Given the description of an element on the screen output the (x, y) to click on. 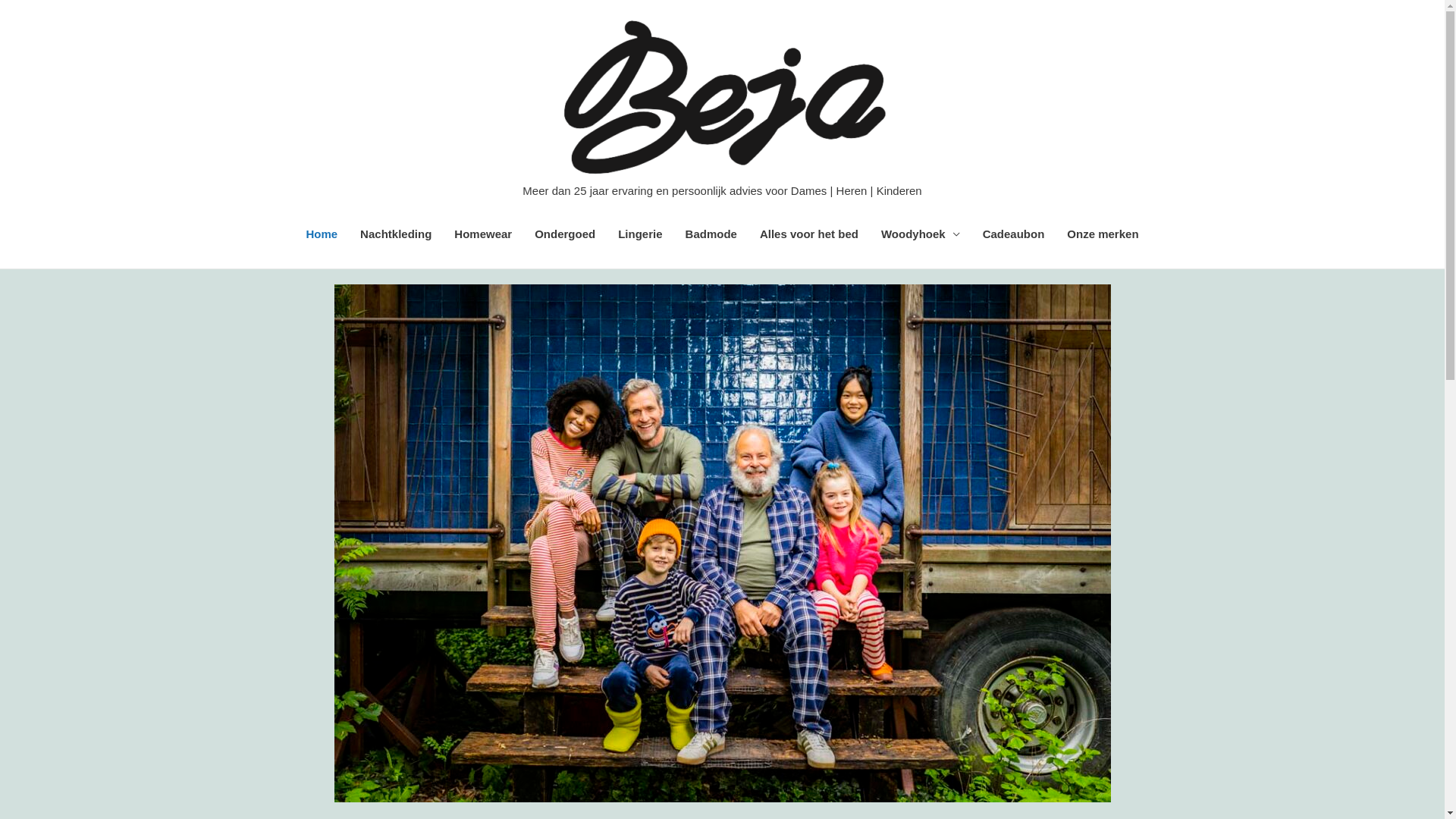
Ondergoed Element type: text (564, 233)
Alles voor het bed Element type: text (808, 233)
Badmode Element type: text (711, 233)
Homewear Element type: text (482, 233)
Cadeaubon Element type: text (1013, 233)
Onze merken Element type: text (1102, 233)
Woodyhoek Element type: text (920, 233)
Nachtkleding Element type: text (395, 233)
Lingerie Element type: text (639, 233)
Home Element type: text (321, 233)
